Given the description of an element on the screen output the (x, y) to click on. 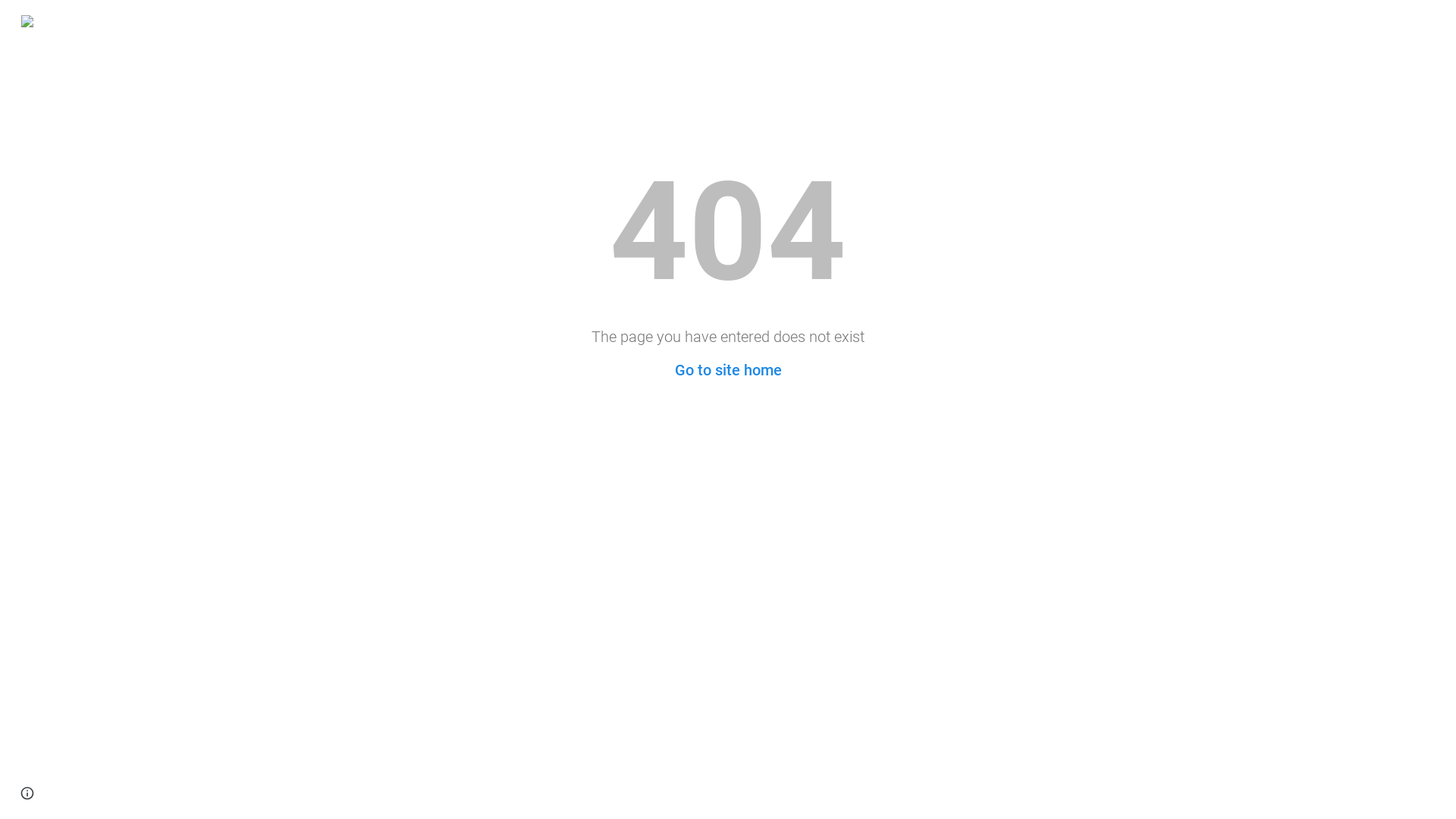
Go to site home Element type: text (727, 369)
